Given the description of an element on the screen output the (x, y) to click on. 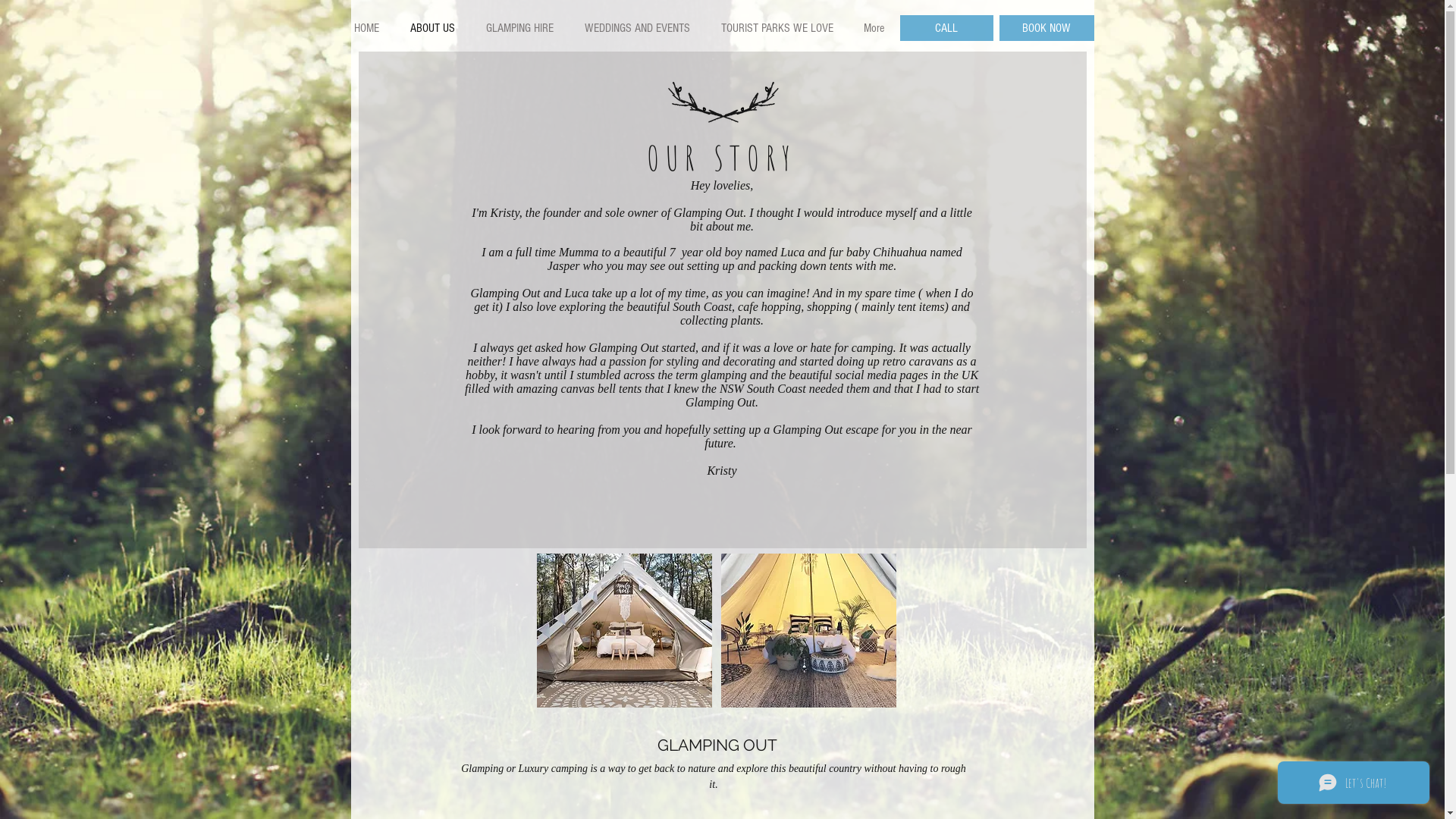
CALL Element type: text (945, 27)
WEDDINGS AND EVENTS Element type: text (636, 27)
BOOK NOW Element type: text (1046, 27)
HOME Element type: text (365, 27)
ABOUT US Element type: text (432, 27)
TOURIST PARKS WE LOVE Element type: text (776, 27)
GLAMPING HIRE Element type: text (519, 27)
